Given the description of an element on the screen output the (x, y) to click on. 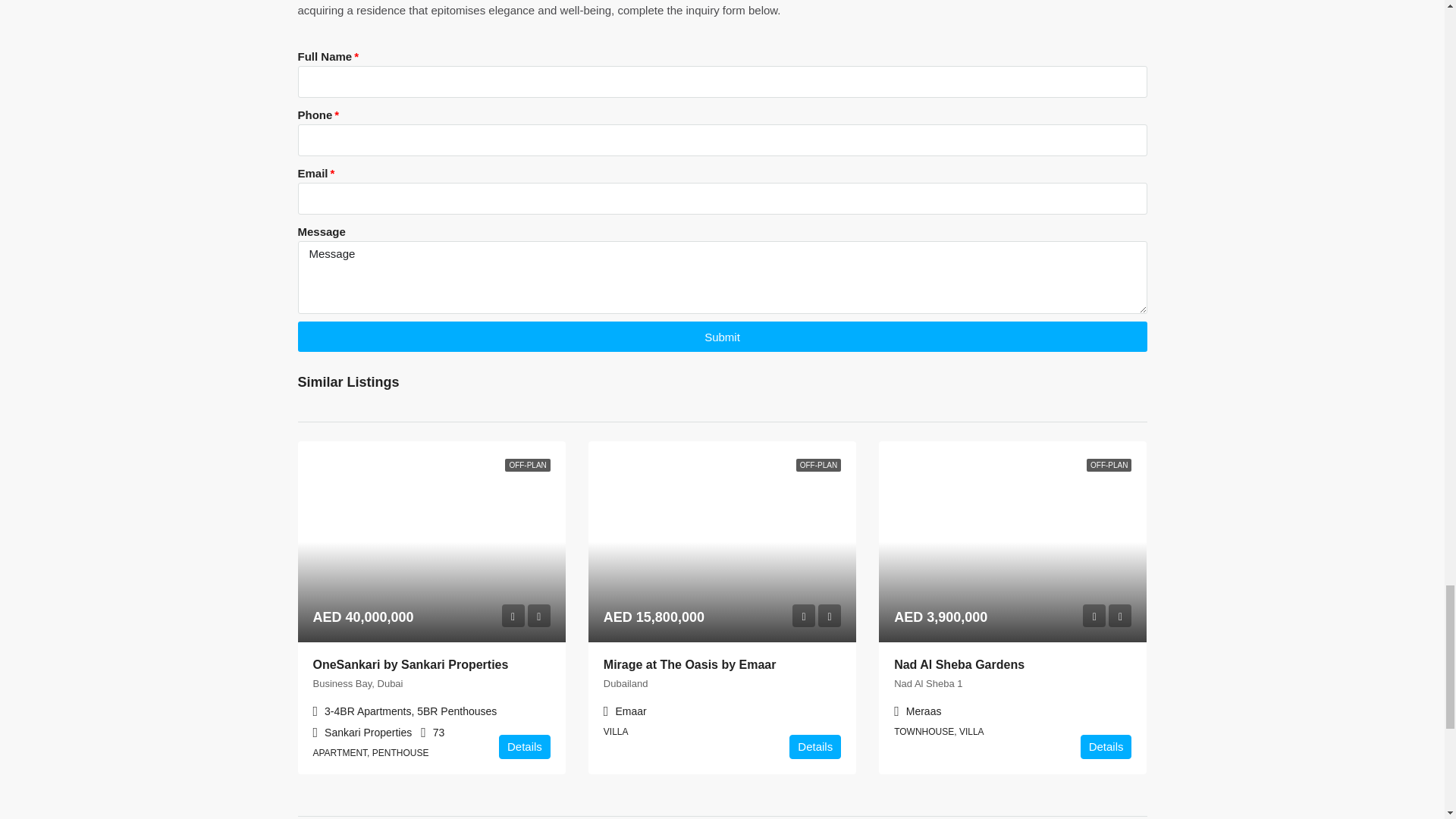
Preview (1094, 615)
Favourite (538, 615)
Favourite (829, 615)
Preview (803, 615)
Preview (513, 615)
Favourite (1119, 615)
